Given the description of an element on the screen output the (x, y) to click on. 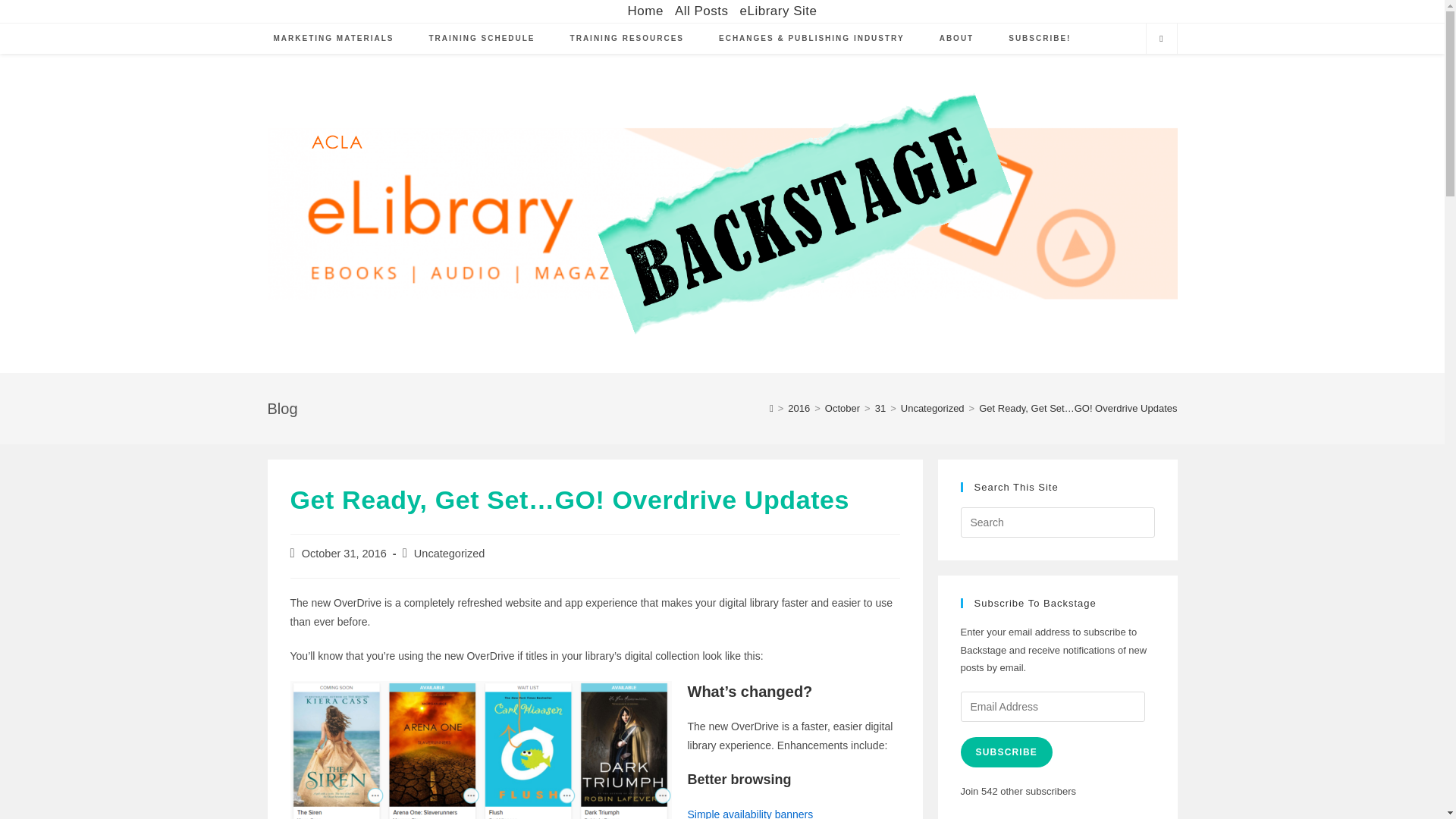
October (842, 408)
All Posts (702, 10)
31 (880, 408)
Uncategorized (932, 408)
Home (645, 10)
TRAINING RESOURCES (627, 38)
2016 (798, 408)
Uncategorized (448, 553)
SUBSCRIBE! (1039, 38)
TRAINING SCHEDULE (480, 38)
eLibrary Site (777, 10)
MARKETING MATERIALS (334, 38)
ABOUT (956, 38)
Simple availability banners (749, 813)
